Given the description of an element on the screen output the (x, y) to click on. 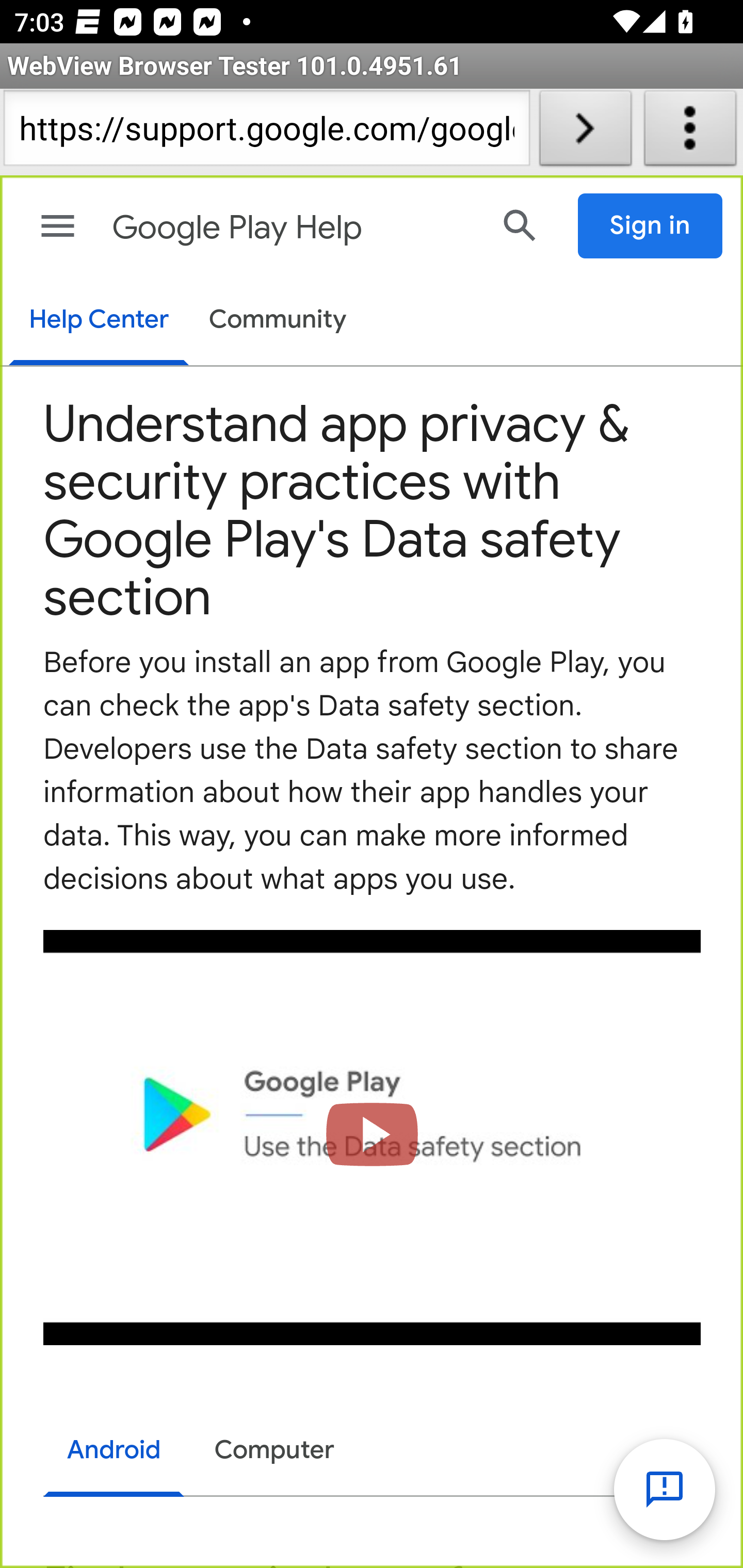
Load URL (585, 132)
About WebView (690, 132)
Main menu (58, 226)
Google Play Help (292, 227)
Search Help Center (519, 225)
Sign in (650, 226)
Help Center (98, 320)
Community (277, 320)
Load video (372, 1137)
Load video (372, 1137)
Android (114, 1452)
Computer (273, 1450)
